Given the description of an element on the screen output the (x, y) to click on. 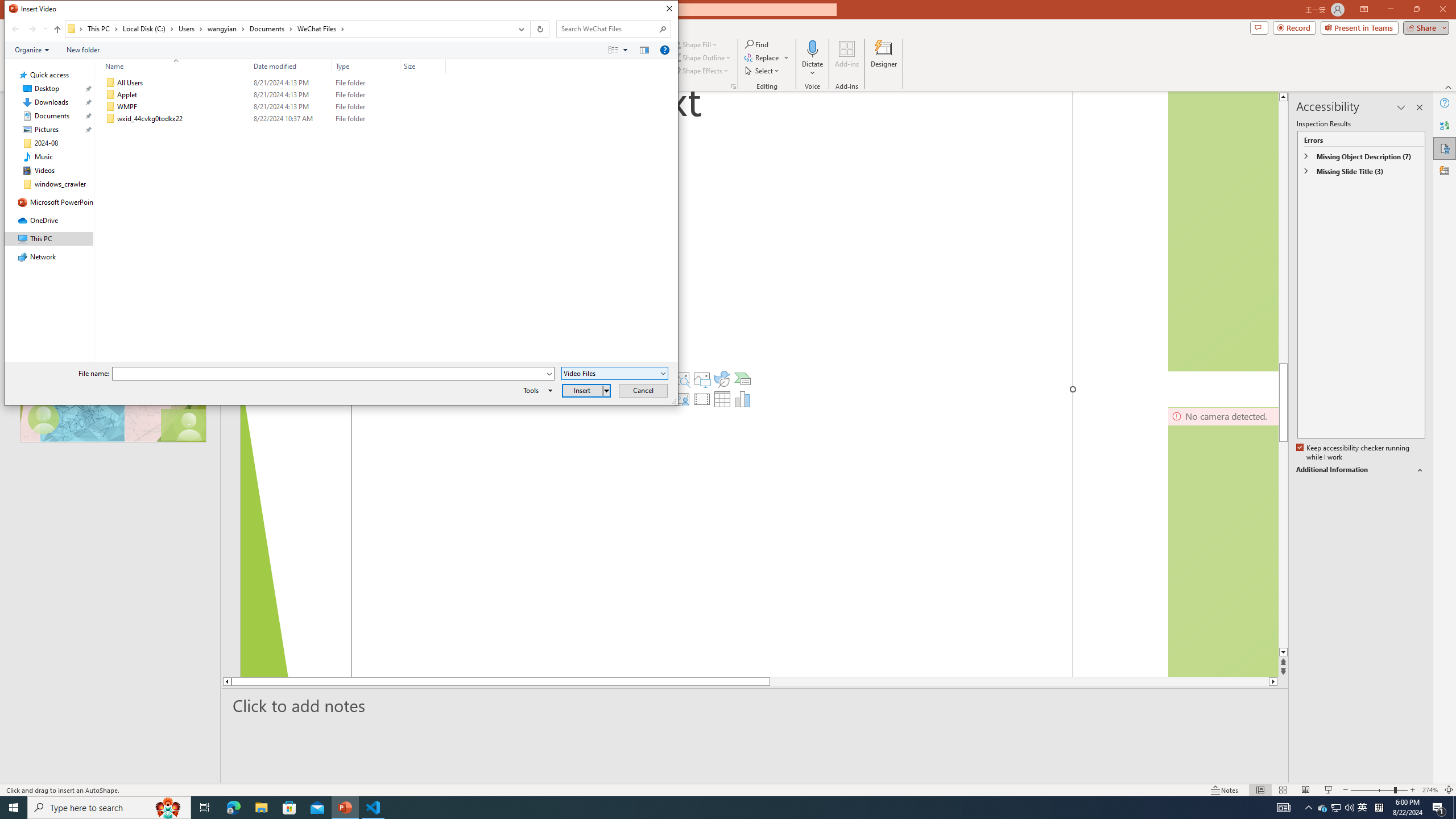
Previous Locations (520, 28)
wxid_44cvkg0todkx22 (273, 119)
Size (422, 65)
This PC (102, 28)
Size (422, 119)
Tools (535, 390)
Insert Chart (742, 398)
